Given the description of an element on the screen output the (x, y) to click on. 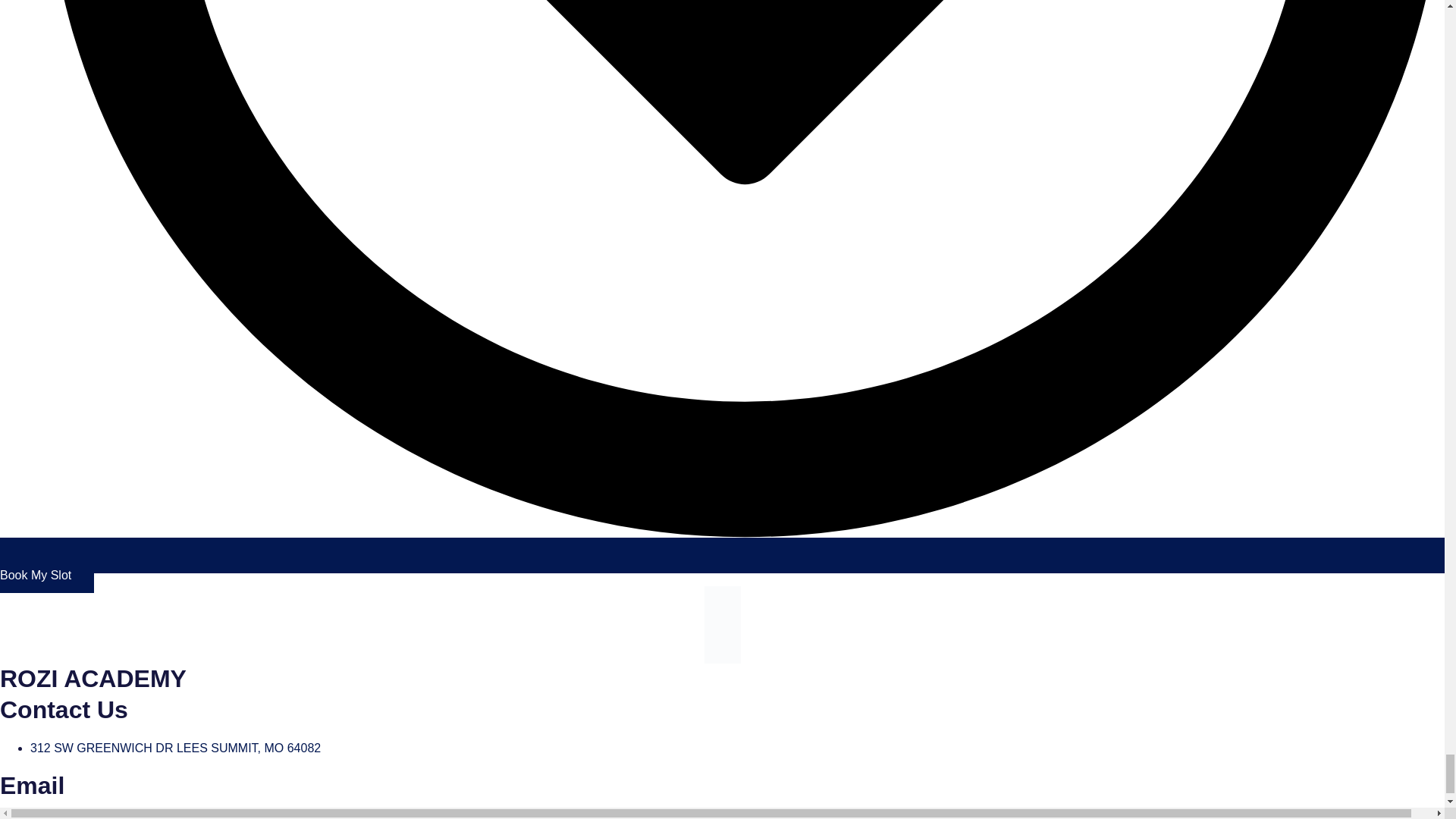
312 SW GREENWICH DR LEES SUMMIT, MO 64082 (175, 748)
